Given the description of an element on the screen output the (x, y) to click on. 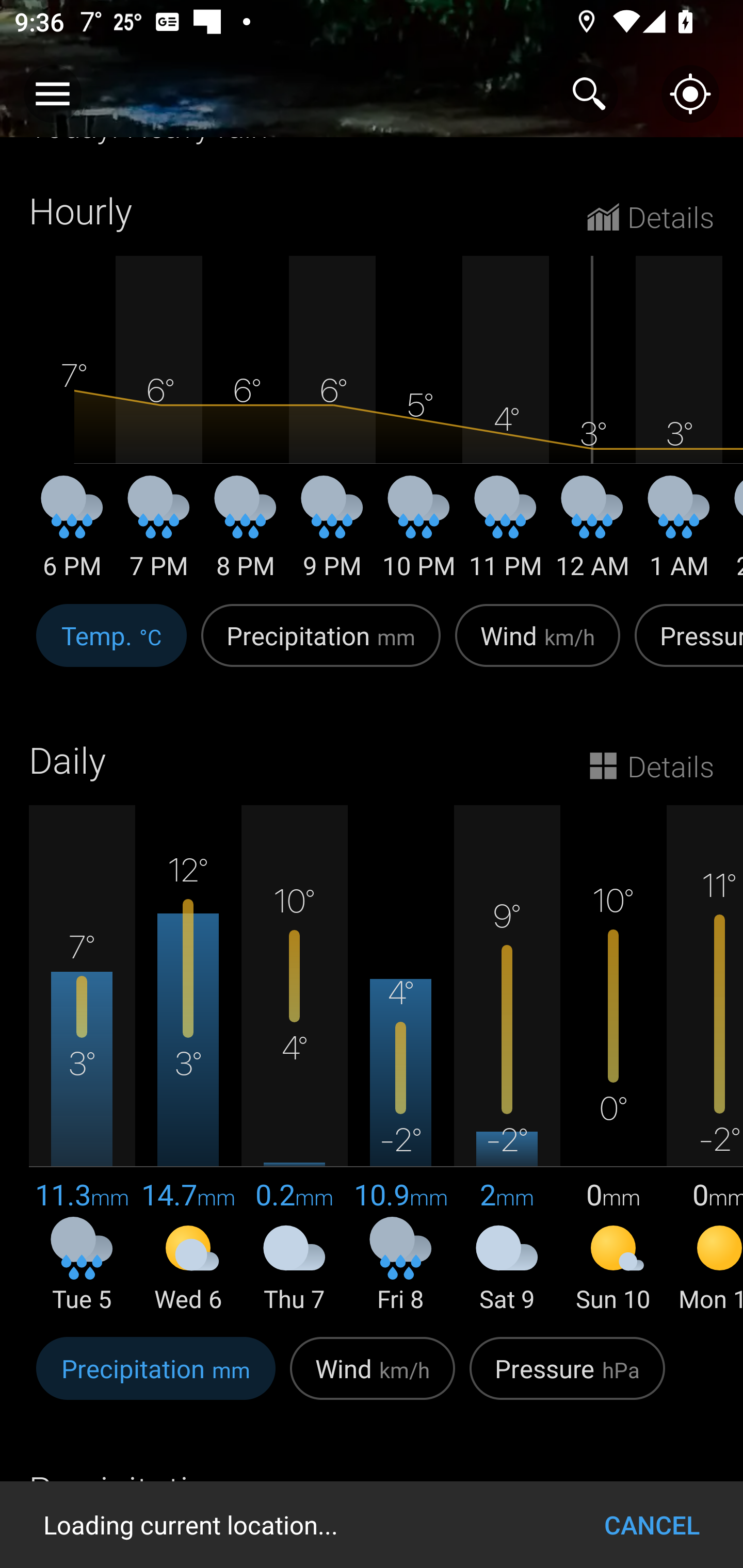
6 PM (71, 534)
7 PM (158, 534)
8 PM (245, 534)
9 PM (332, 534)
10 PM (418, 534)
11 PM (505, 534)
12 AM (592, 534)
1 AM (679, 534)
Temp. °C (110, 646)
Precipitation mm (320, 646)
Wind km/h (537, 646)
Pressure (685, 646)
7° 3° 11.3 mm Tue 5 (81, 1059)
12° 3° 14.7 mm Wed 6 (188, 1059)
10° 4° 0.2 mm Thu 7 (294, 1059)
4° -2° 10.9 mm Fri 8 (400, 1059)
9° -2° 2 mm Sat 9 (506, 1059)
10° 0° 0 mm Sun 10 (613, 1059)
11° -2° 0 mm Mon 11 (704, 1059)
Precipitation mm (155, 1378)
Wind km/h (372, 1378)
Pressure hPa (567, 1378)
Loading current location... CANCEL (371, 1524)
CANCEL (651, 1524)
